Given the description of an element on the screen output the (x, y) to click on. 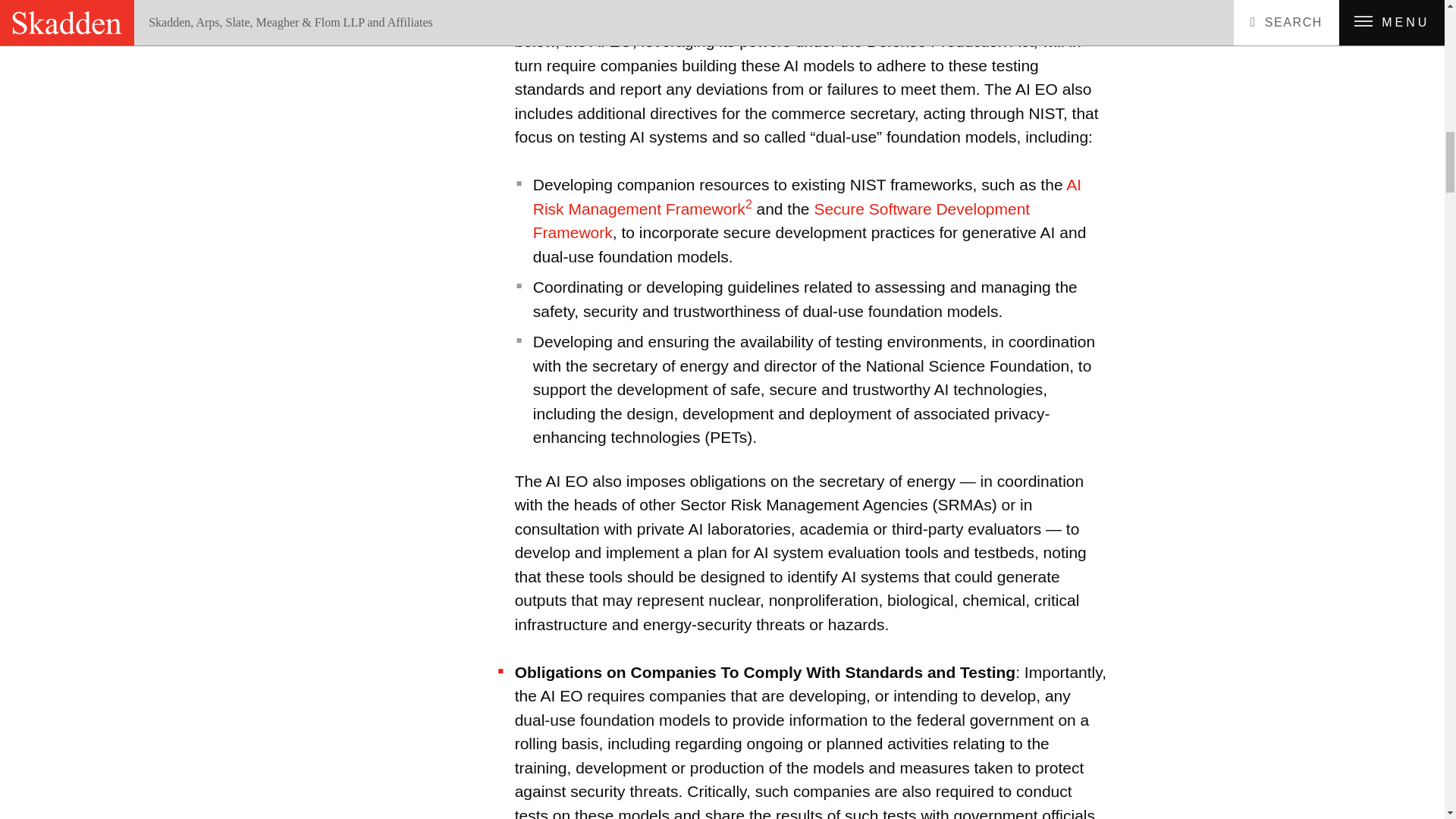
AI Risk Management Framework (806, 196)
Secure Software Development Framework (780, 220)
